Given the description of an element on the screen output the (x, y) to click on. 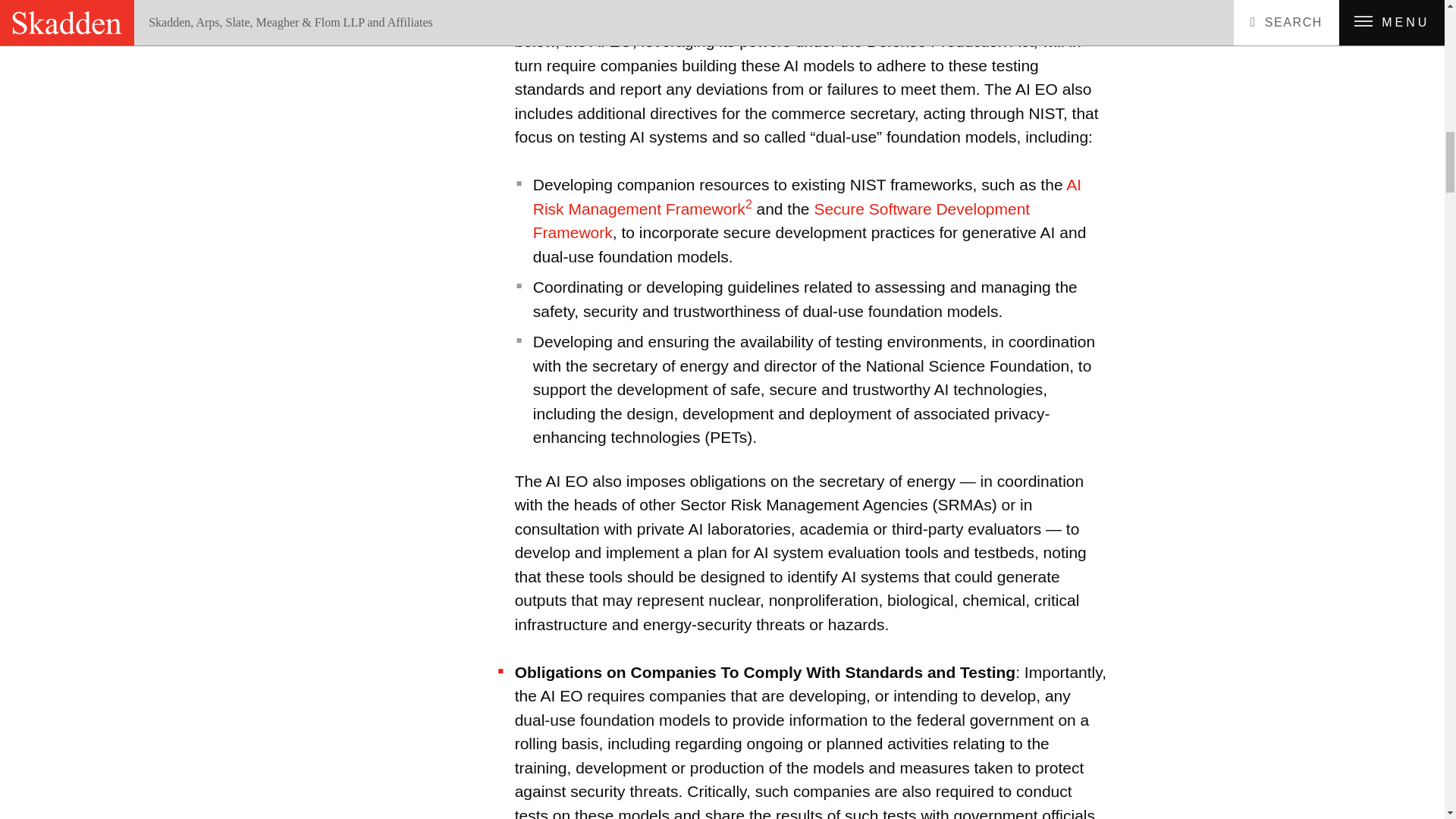
AI Risk Management Framework (806, 196)
Secure Software Development Framework (780, 220)
